Given the description of an element on the screen output the (x, y) to click on. 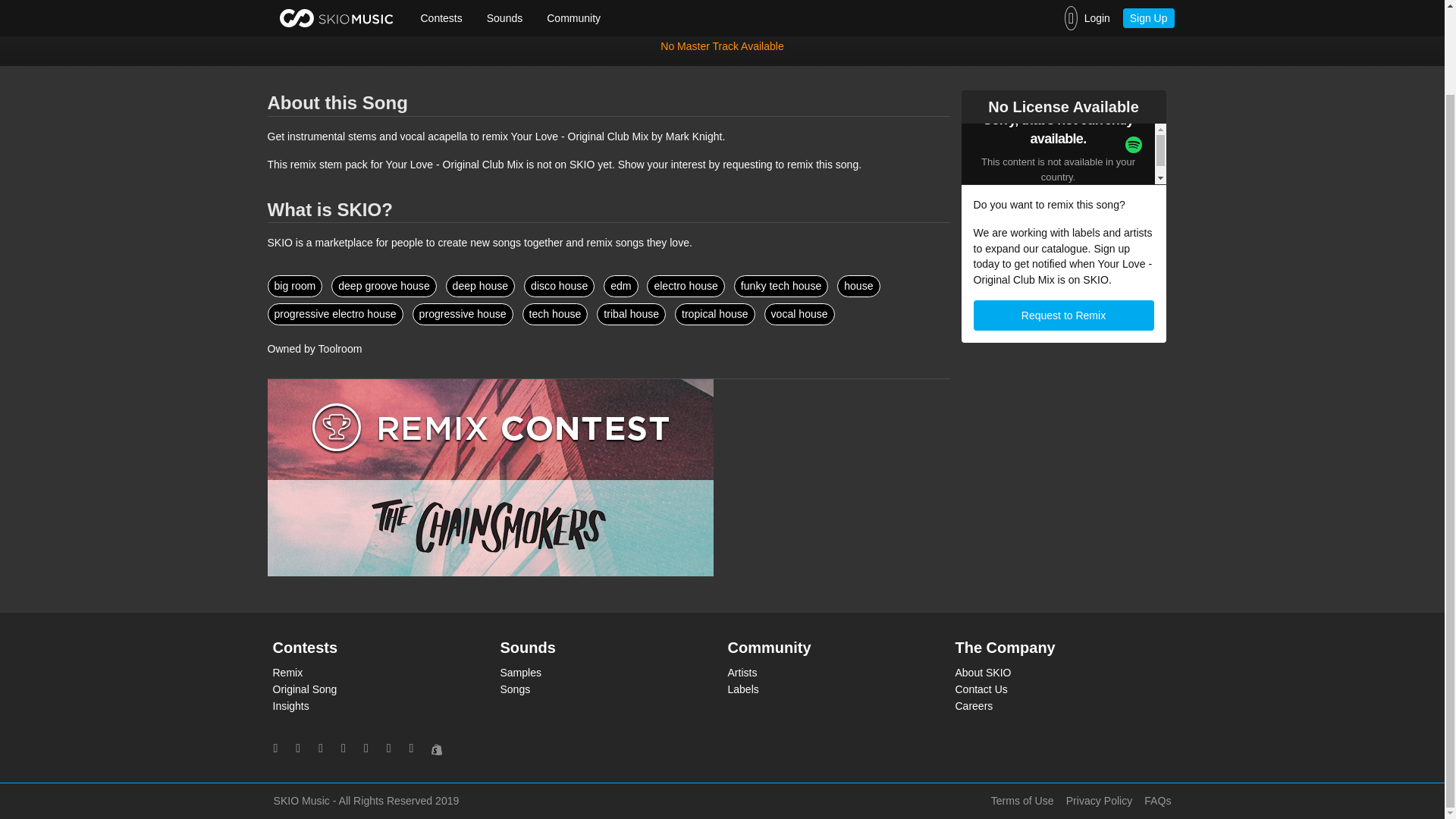
electro house (685, 286)
tech house (555, 314)
tropical house (715, 314)
edm (620, 286)
progressive house (462, 314)
vocal house (799, 314)
progressive electro house (334, 314)
big room (293, 286)
disco house (559, 286)
deep house (480, 286)
deep groove house (383, 286)
funky tech house (780, 286)
tribal house (630, 314)
Request to Remix (1064, 315)
house (858, 286)
